Given the description of an element on the screen output the (x, y) to click on. 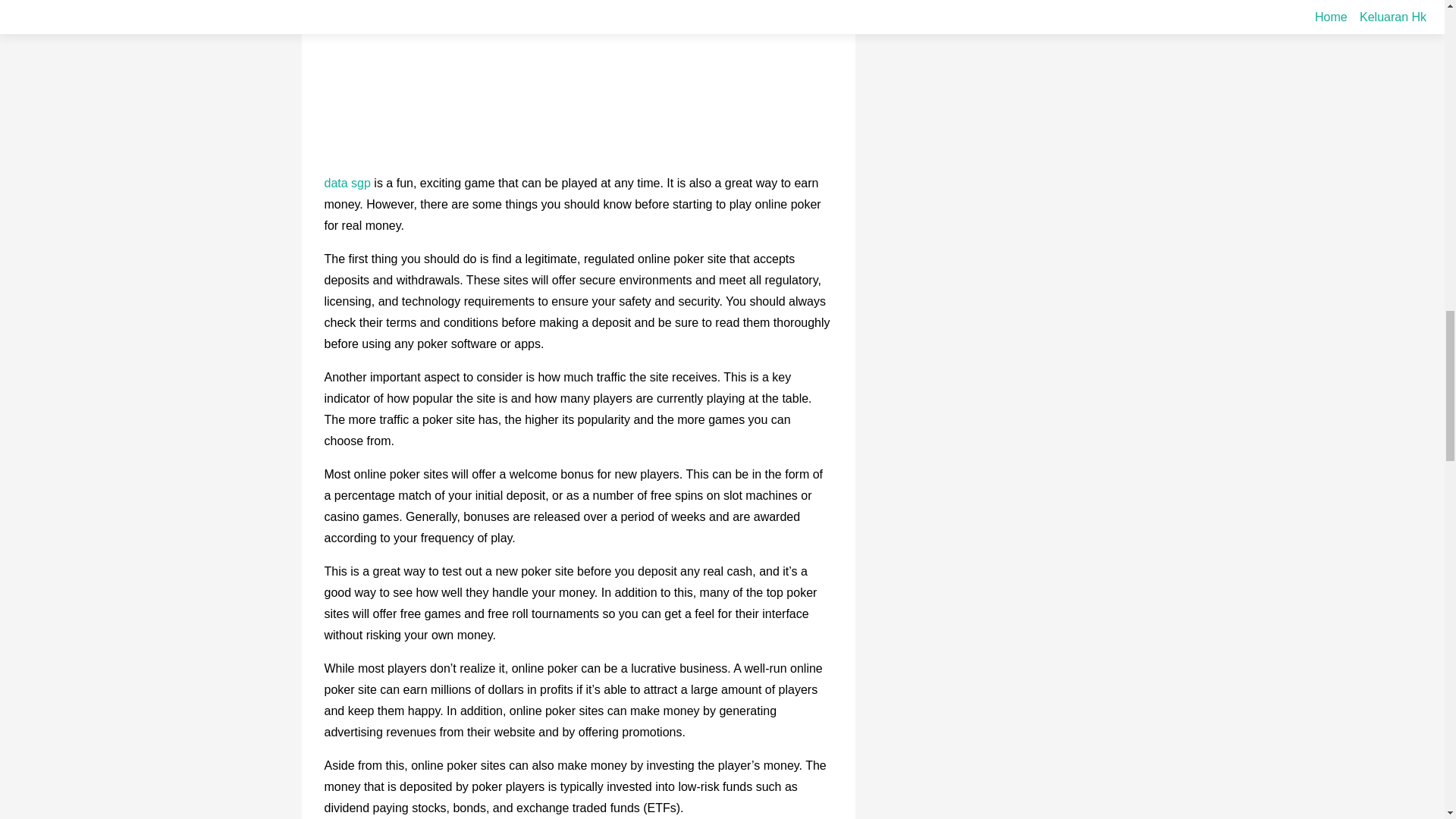
March 28, 2023 (423, 22)
admin (502, 22)
data sgp (347, 182)
What You Should Know Before Playing Online Poker (571, 2)
